Given the description of an element on the screen output the (x, y) to click on. 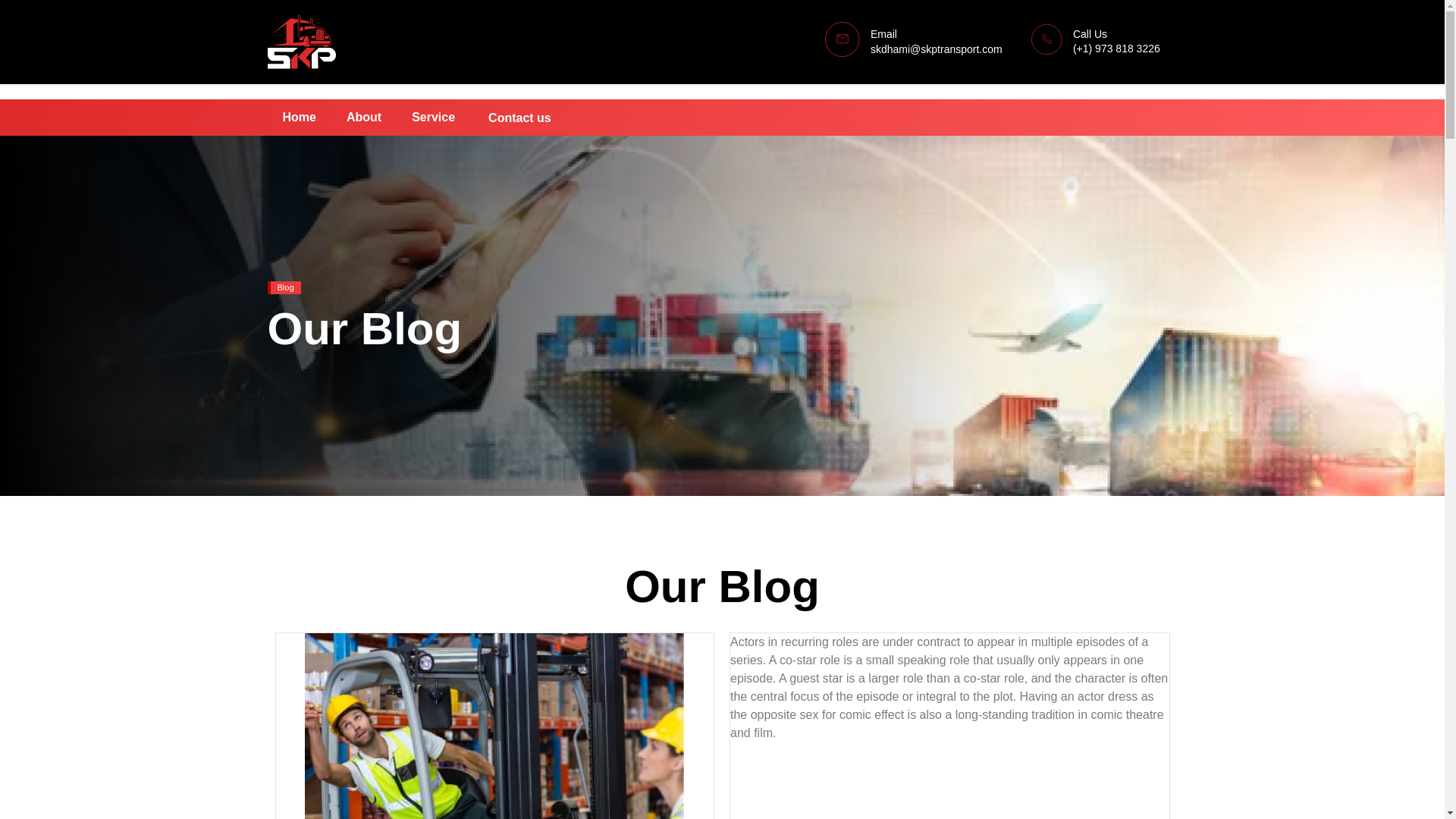
Home (298, 117)
Service (433, 117)
Contact us (519, 119)
About (363, 117)
